Given the description of an element on the screen output the (x, y) to click on. 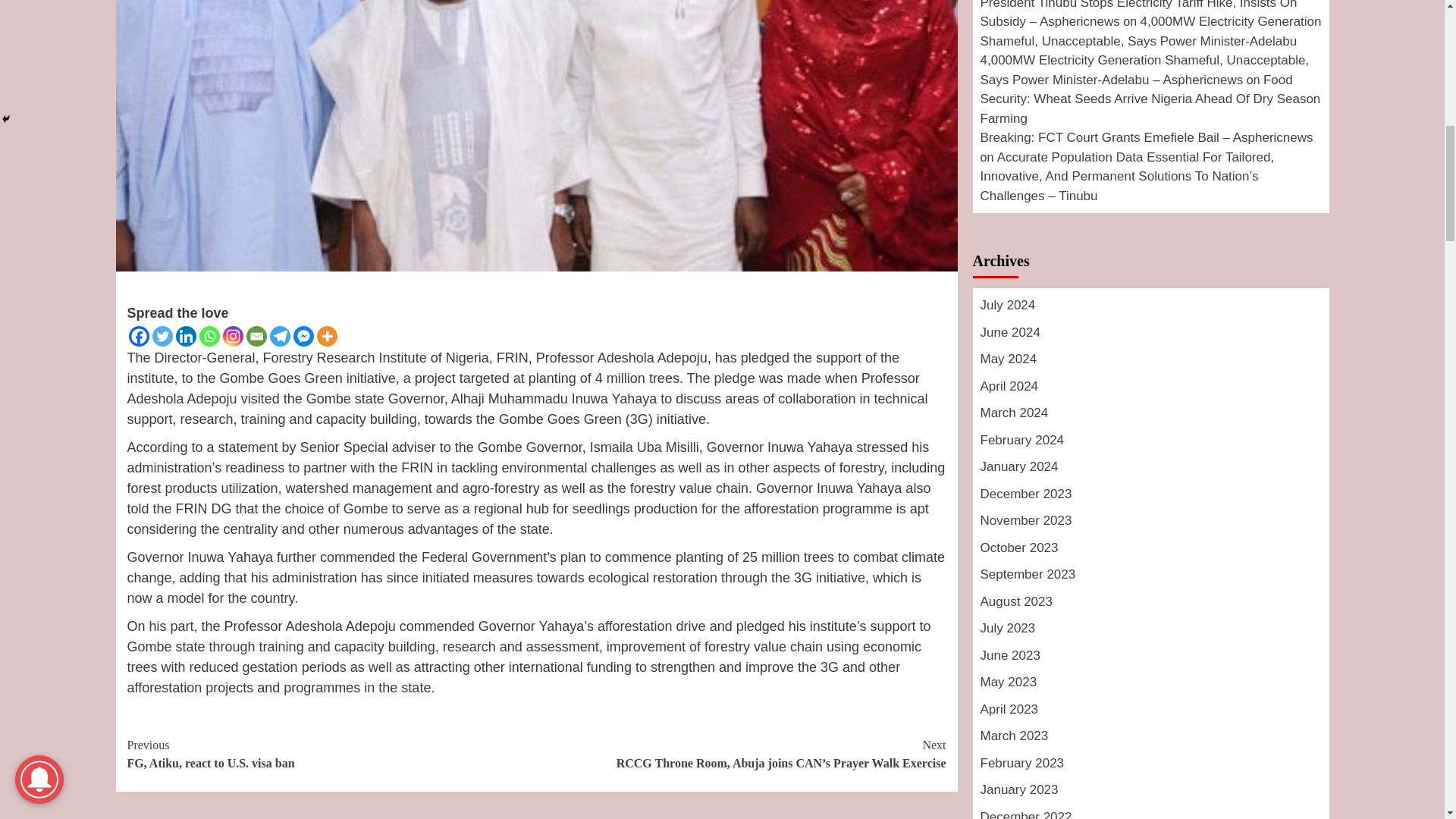
Whatsapp (208, 335)
Email (256, 335)
More (327, 335)
Instagram (232, 335)
Facebook (139, 335)
Linkedin (186, 335)
Twitter (161, 335)
Telegram (279, 335)
